Given the description of an element on the screen output the (x, y) to click on. 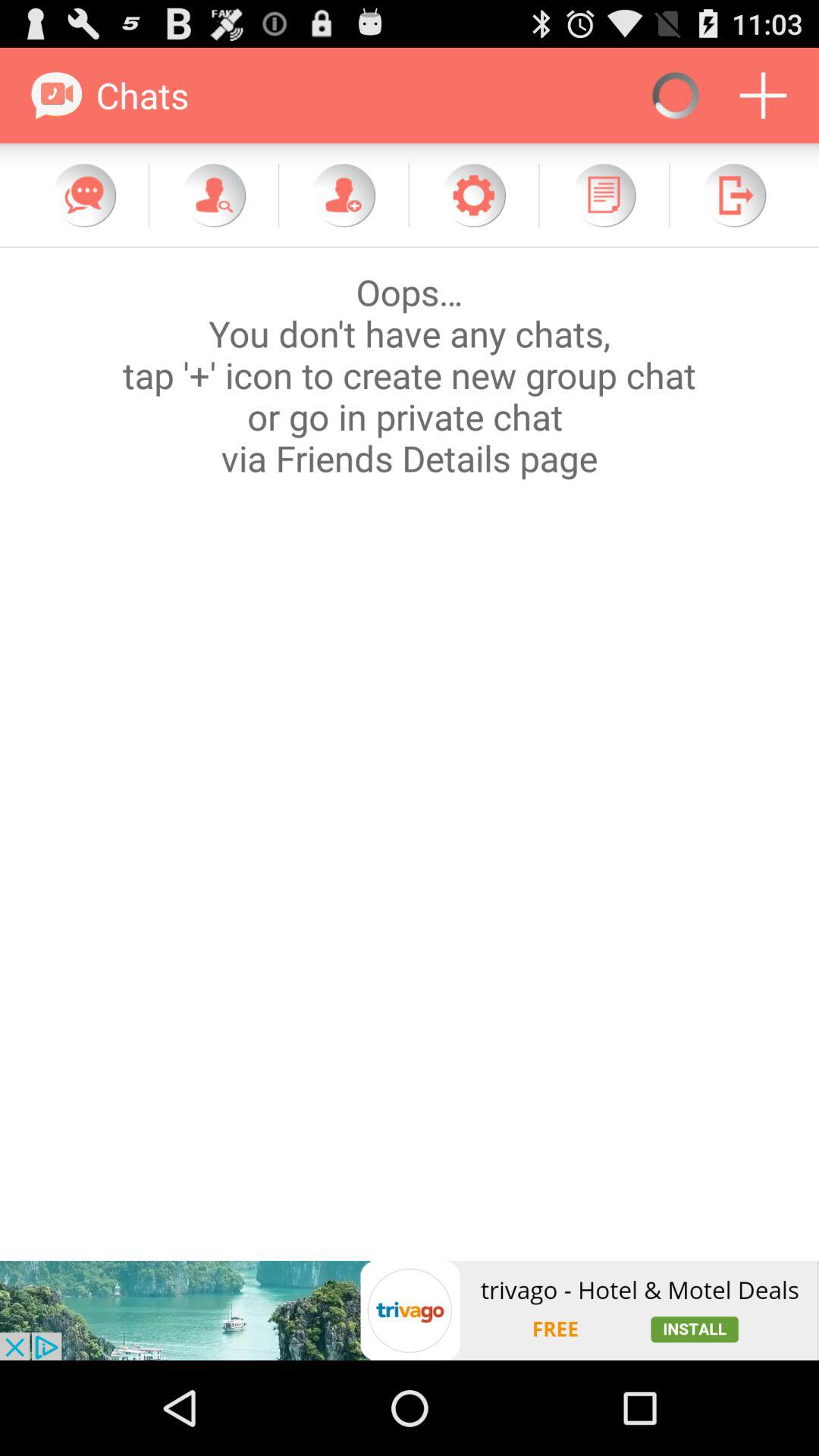
go to favorite (473, 194)
